Given the description of an element on the screen output the (x, y) to click on. 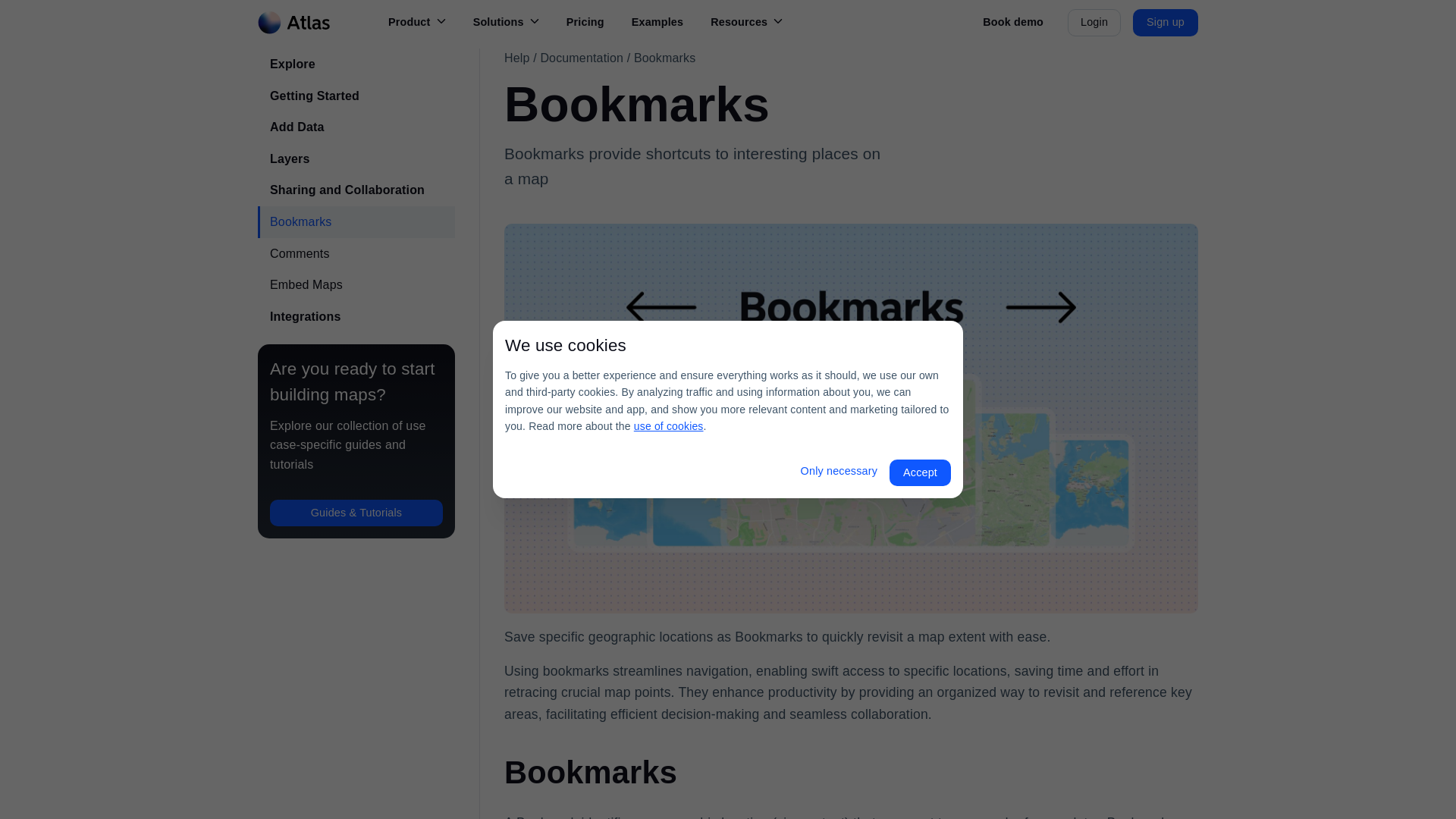
Embed Maps (355, 285)
Integrations (355, 316)
Help (516, 57)
Getting Started (355, 96)
Sharing and Collaboration (355, 190)
Documentation (581, 57)
Bookmarks (355, 222)
Comments (355, 254)
Bookmarks (664, 57)
Layers (355, 159)
Add Data (355, 127)
Explore (355, 64)
